Given the description of an element on the screen output the (x, y) to click on. 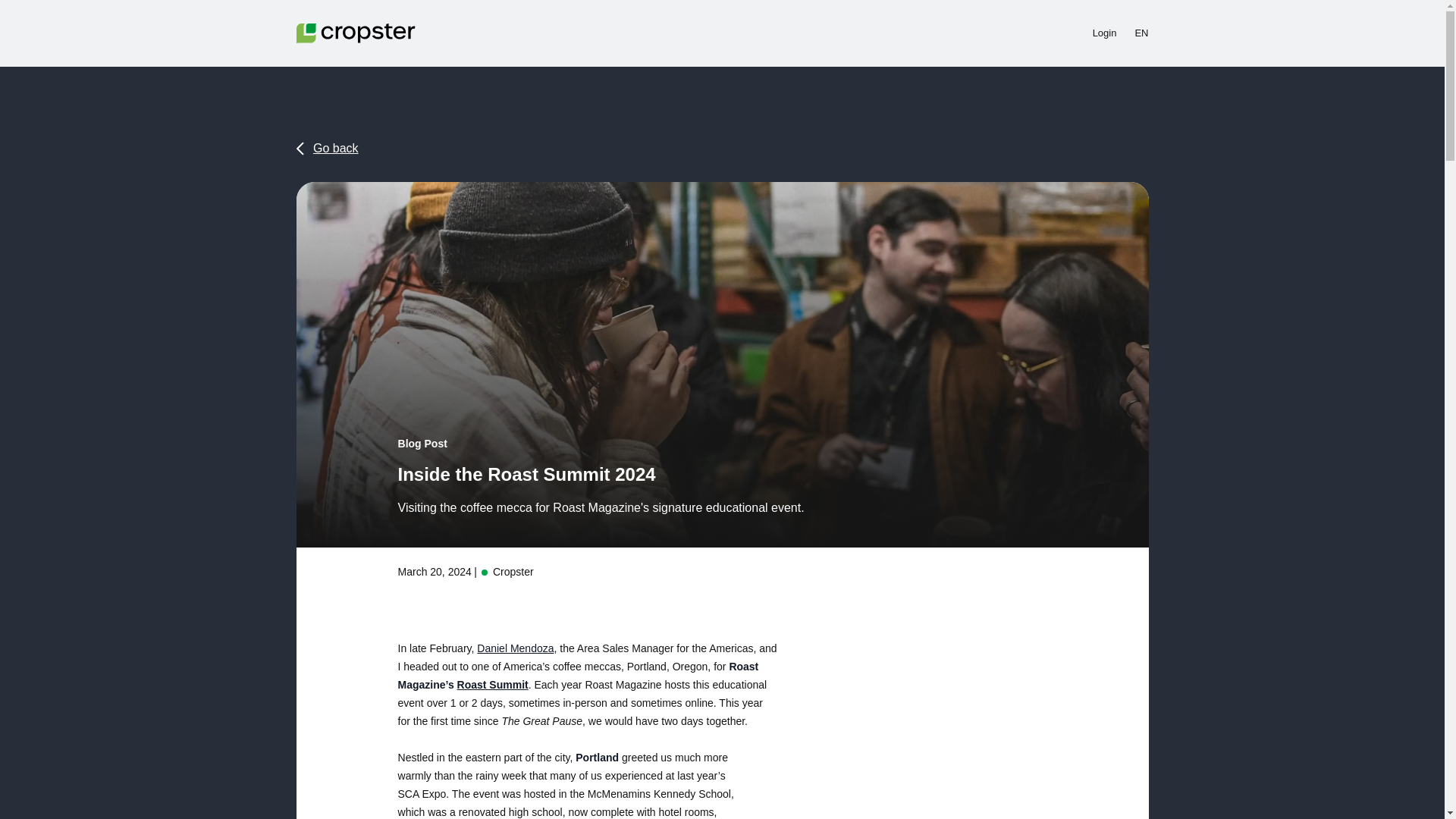
Roast Summit (492, 684)
EN (1141, 33)
Go back (326, 148)
Daniel Mendoza (515, 648)
Go to Blog Post. (421, 443)
Blog Post (421, 443)
Login (1104, 33)
